Given the description of an element on the screen output the (x, y) to click on. 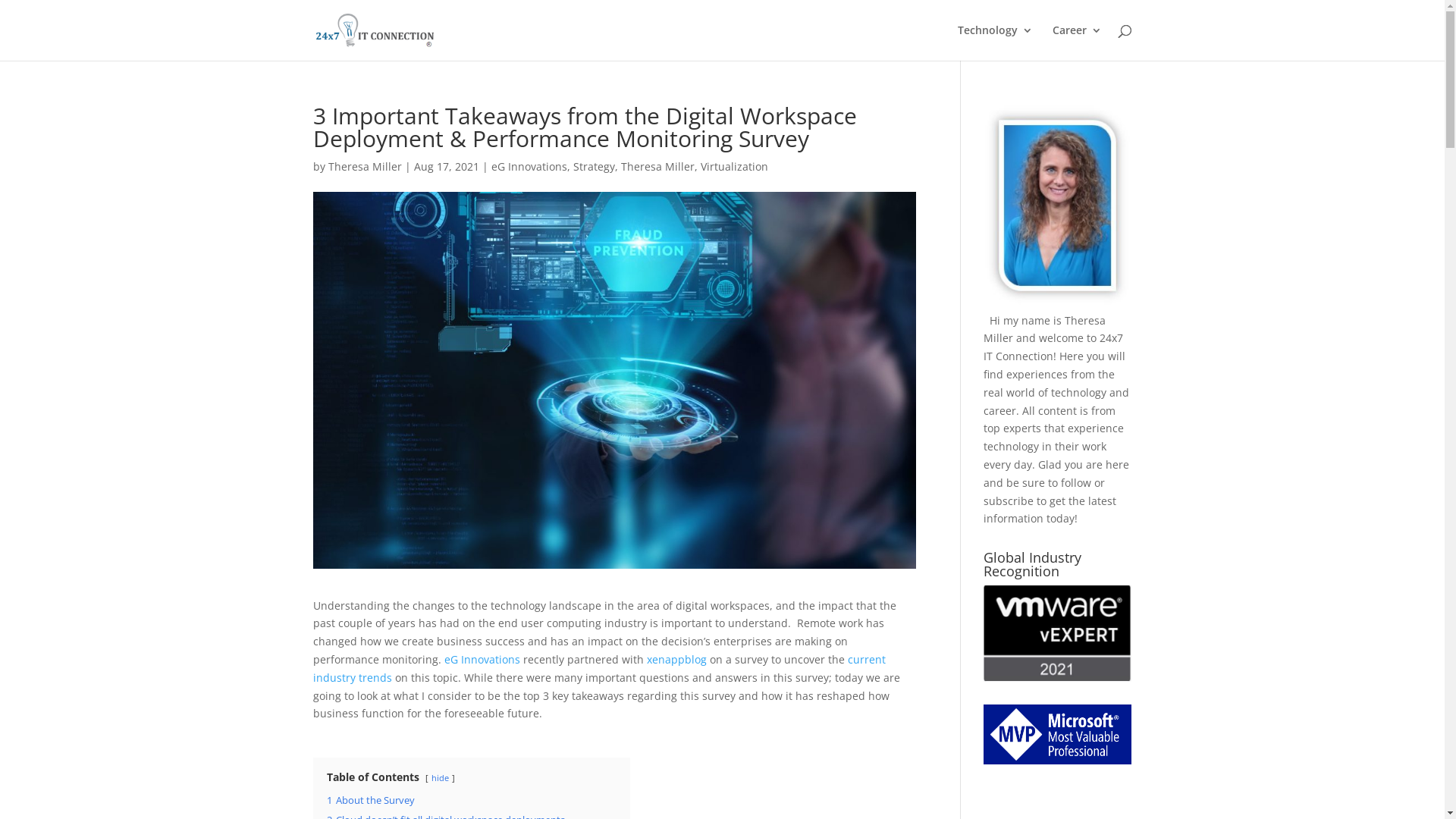
Theresa Miller Element type: text (364, 166)
current industry trends Element type: text (598, 668)
eG Innovations Element type: text (529, 166)
Strategy Element type: text (594, 166)
Theresa Miller Element type: text (656, 166)
xenappblog Element type: text (676, 659)
Career Element type: text (1076, 42)
Technology Element type: text (994, 42)
1 About the Survey Element type: text (370, 799)
hide Element type: text (439, 777)
Virtualization Element type: text (734, 166)
eG Innovations Element type: text (482, 659)
